Given the description of an element on the screen output the (x, y) to click on. 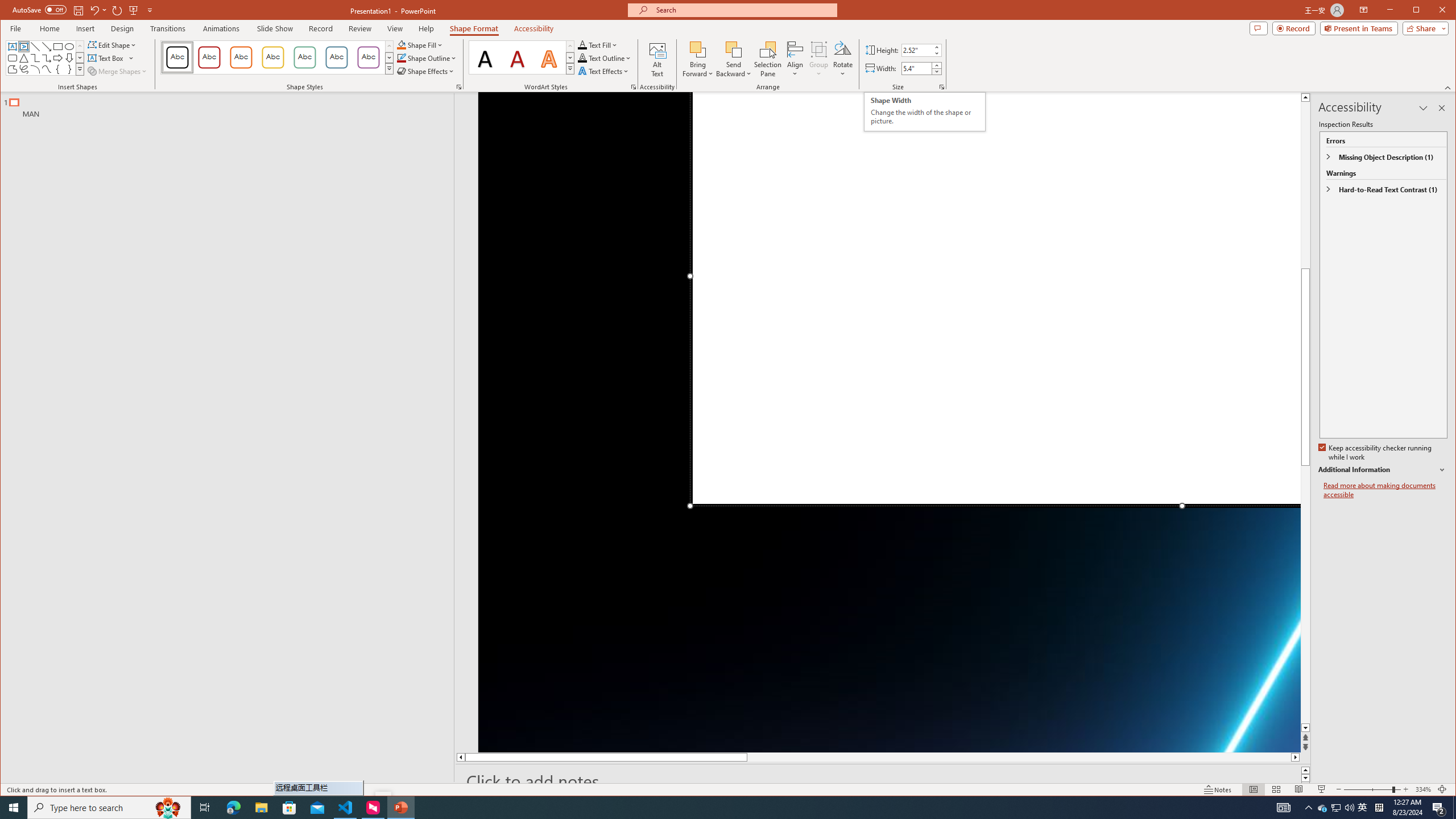
Size and Position... (941, 86)
